Given the description of an element on the screen output the (x, y) to click on. 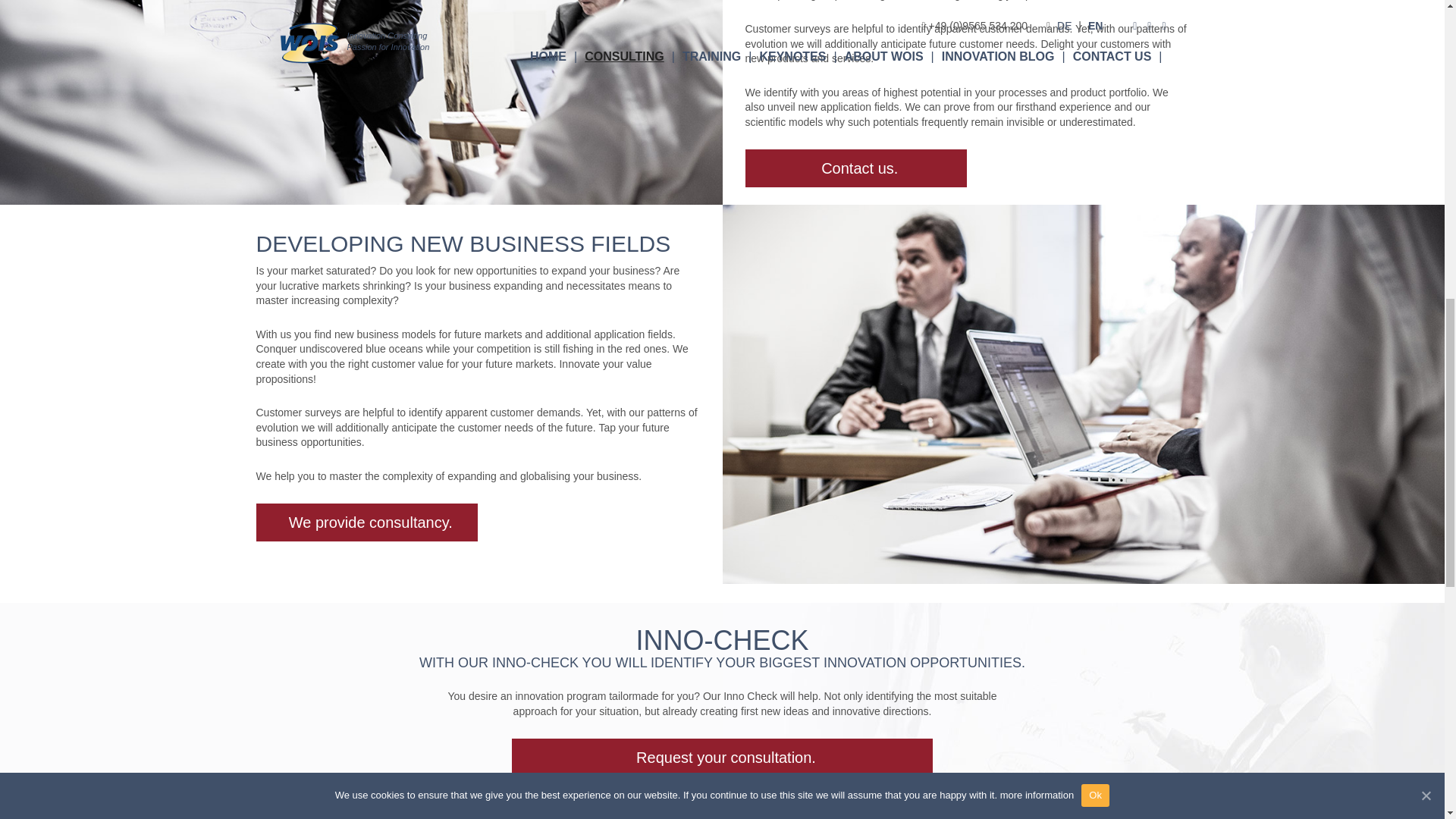
Contact us. (855, 168)
We provide consultancy. (367, 522)
Request your consultation. (722, 757)
